Given the description of an element on the screen output the (x, y) to click on. 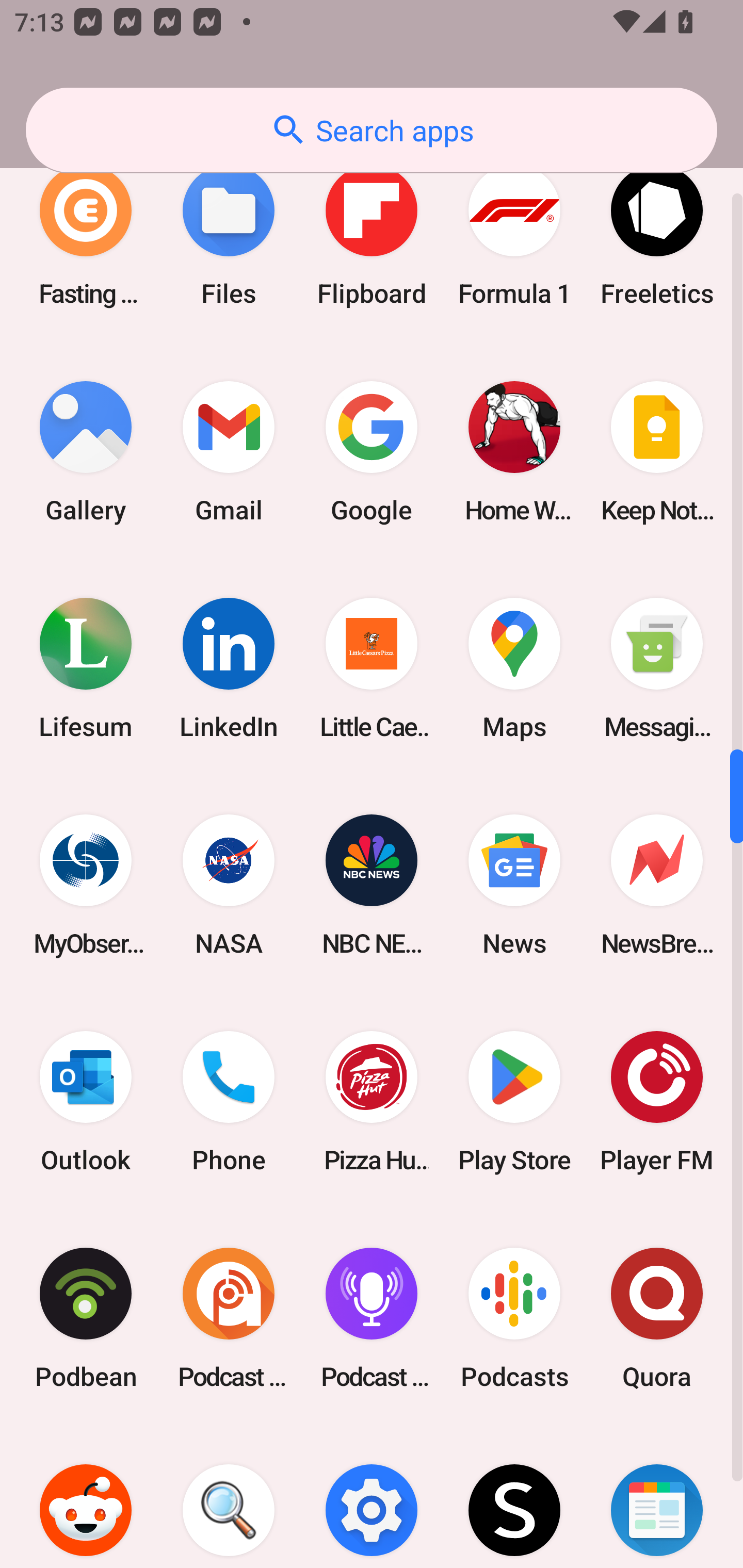
  Search apps (371, 130)
Fasting Coach (85, 235)
Files (228, 235)
Flipboard (371, 235)
Formula 1 (514, 235)
Freeletics (656, 235)
Gallery (85, 451)
Gmail (228, 451)
Google (371, 451)
Home Workout (514, 451)
Keep Notes (656, 451)
Lifesum (85, 667)
LinkedIn (228, 667)
Little Caesars Pizza (371, 667)
Maps (514, 667)
Messaging (656, 667)
MyObservatory (85, 885)
NASA (228, 885)
NBC NEWS (371, 885)
News (514, 885)
NewsBreak (656, 885)
Outlook (85, 1102)
Phone (228, 1102)
Pizza Hut HK & Macau (371, 1102)
Play Store (514, 1102)
Player FM (656, 1102)
Podbean (85, 1318)
Podcast Addict (228, 1318)
Podcast Player (371, 1318)
Podcasts (514, 1318)
Quora (656, 1318)
Reddit (85, 1497)
Search (228, 1497)
Settings (371, 1497)
SHEIN (514, 1497)
SmartNews (656, 1497)
